Given the description of an element on the screen output the (x, y) to click on. 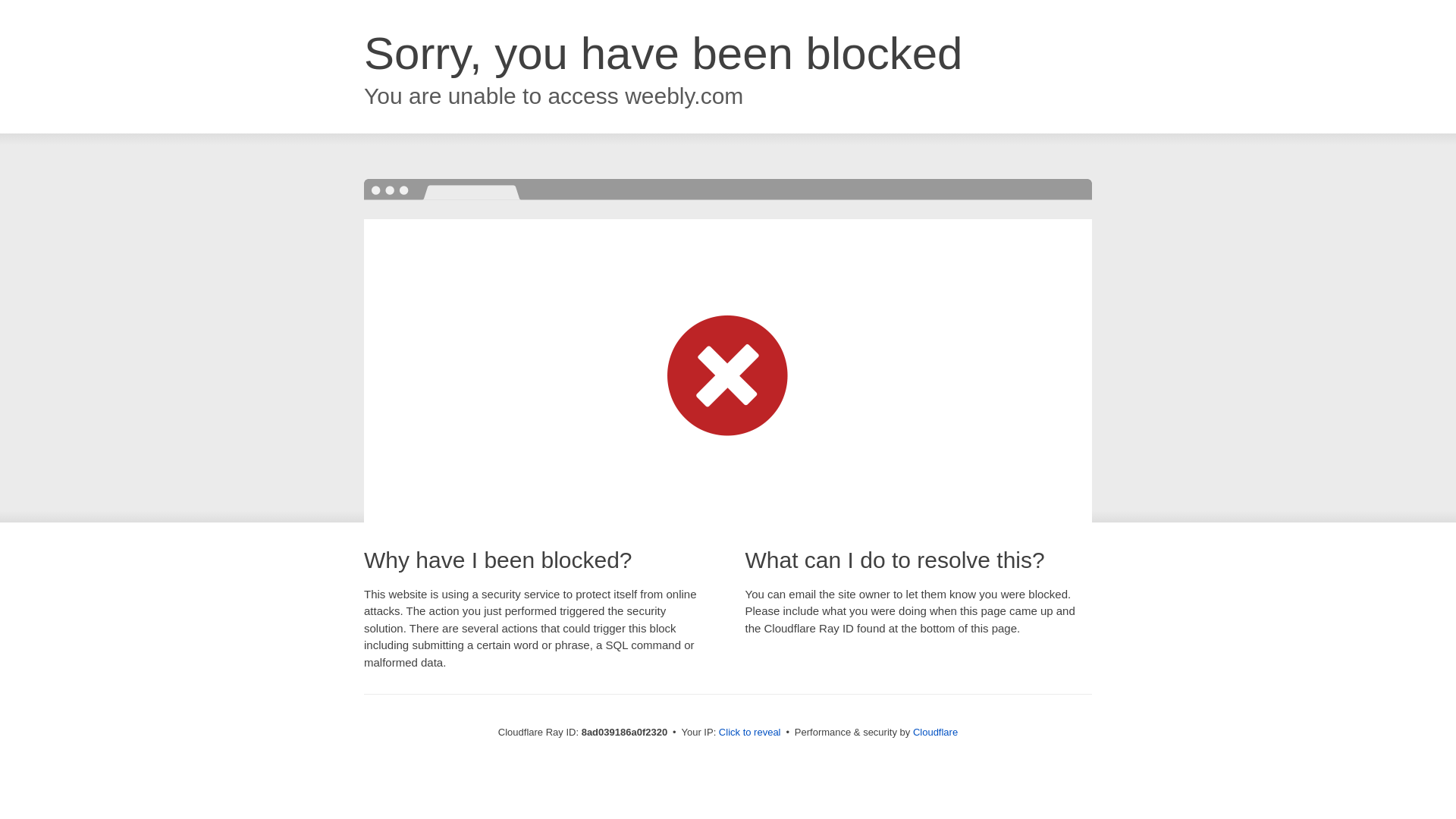
Click to reveal (749, 732)
Cloudflare (935, 731)
